Given the description of an element on the screen output the (x, y) to click on. 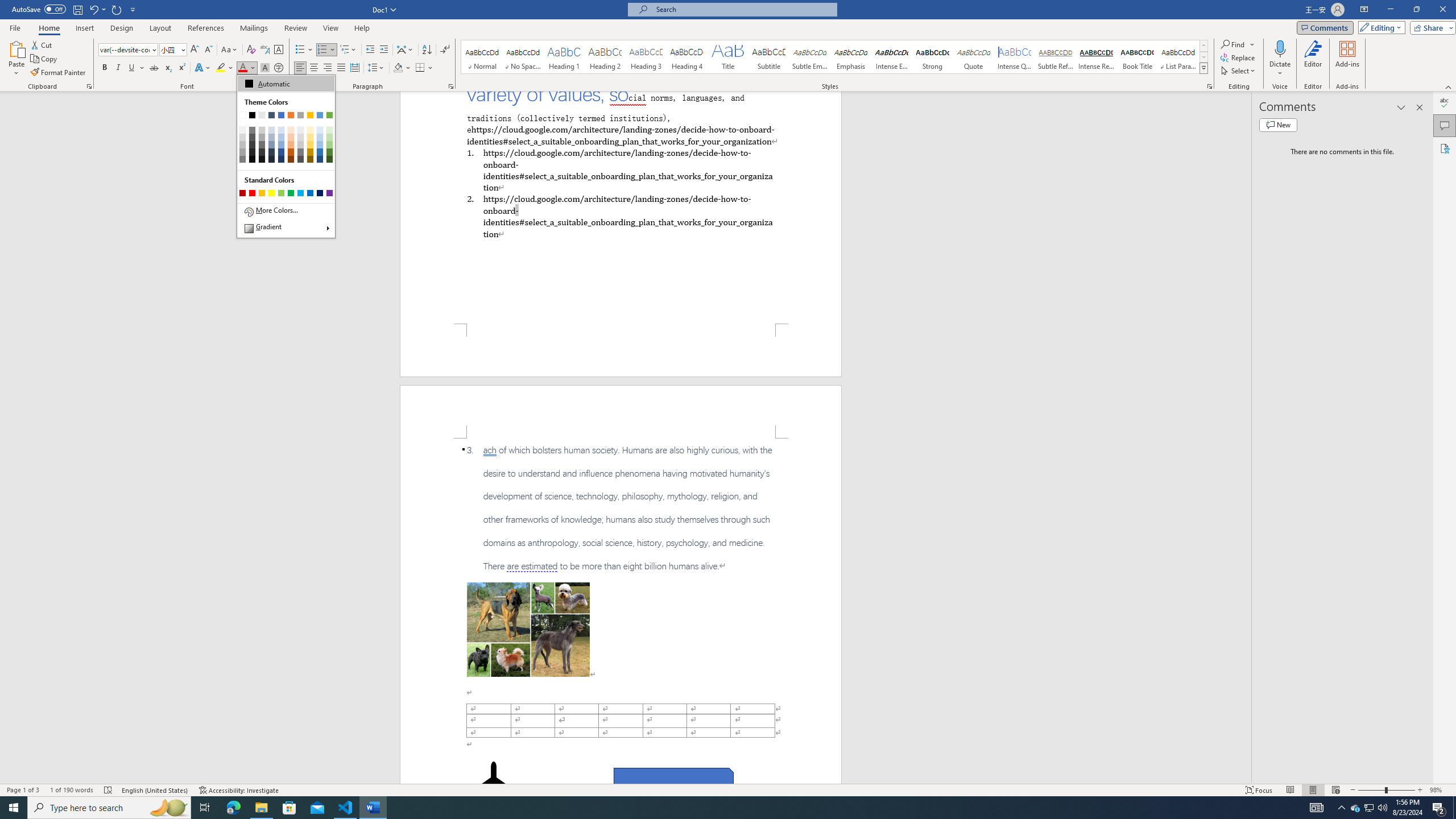
Book Title (1136, 56)
Page Number Page 1 of 3 (22, 790)
Quote (973, 56)
Intense Quote (1014, 56)
